Given the description of an element on the screen output the (x, y) to click on. 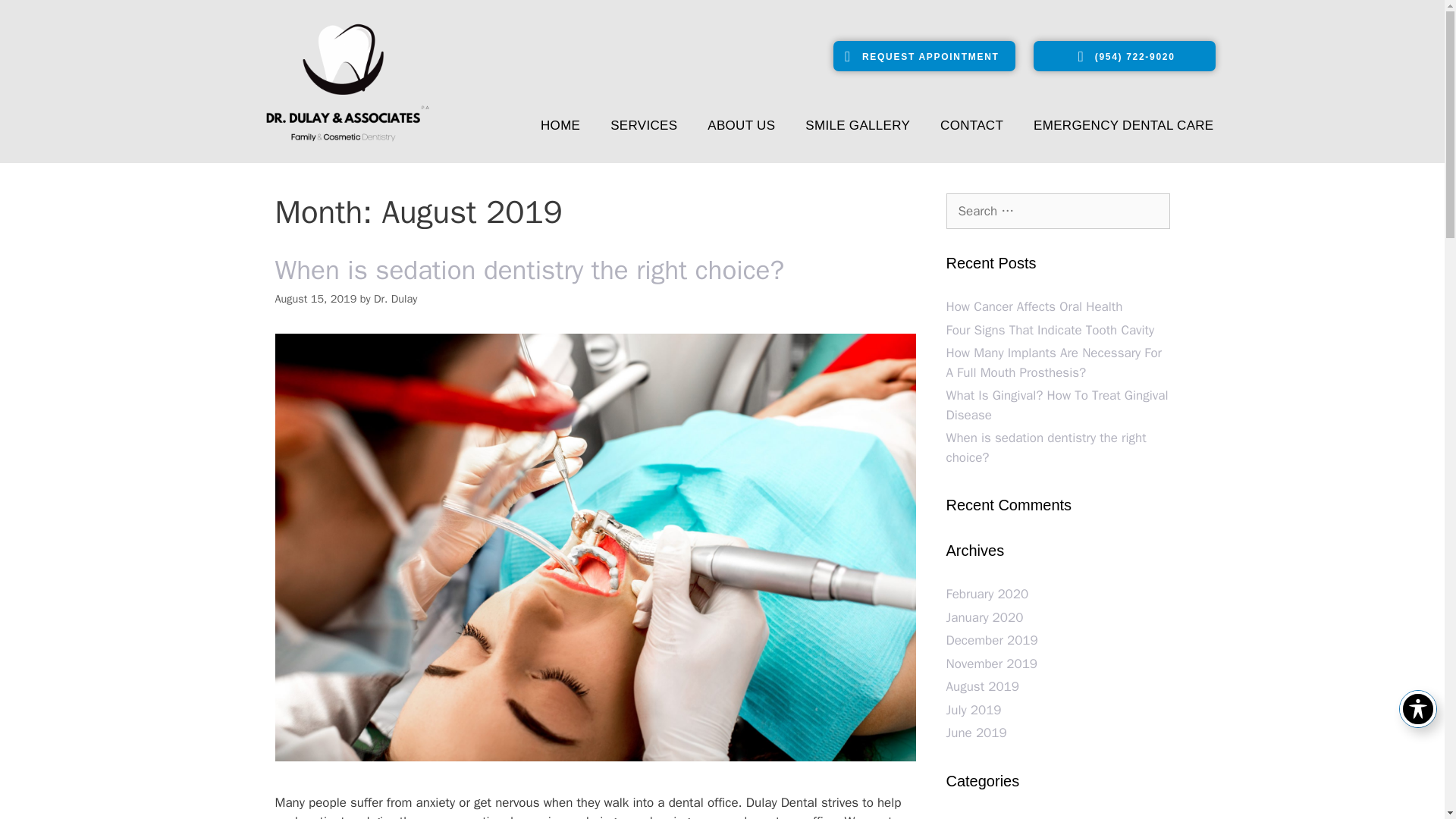
SMILE GALLERY (857, 125)
REQUEST APPOINTMENT (923, 56)
SERVICES (644, 125)
EMERGENCY DENTAL CARE (1122, 125)
View all posts by Dr. Dulay (395, 298)
CONTACT (970, 125)
Search for: (1058, 211)
ABOUT US (741, 125)
HOME (560, 125)
